Given the description of an element on the screen output the (x, y) to click on. 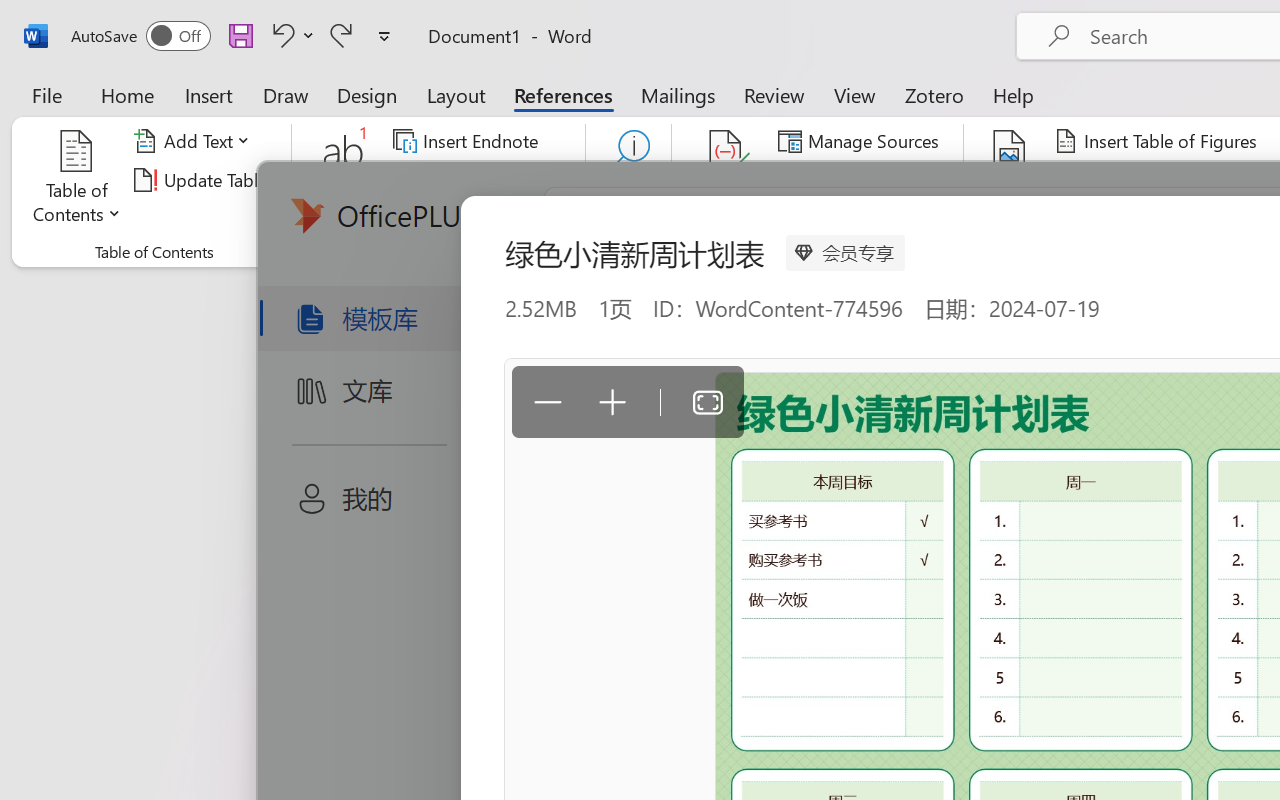
Bibliography (854, 218)
Insert Citation (726, 179)
Insert Table of Figures... (1158, 141)
Search (628, 179)
Table of Contents (77, 179)
Update Table (1124, 179)
Undo Apply Quick Style Set (290, 35)
